Given the description of an element on the screen output the (x, y) to click on. 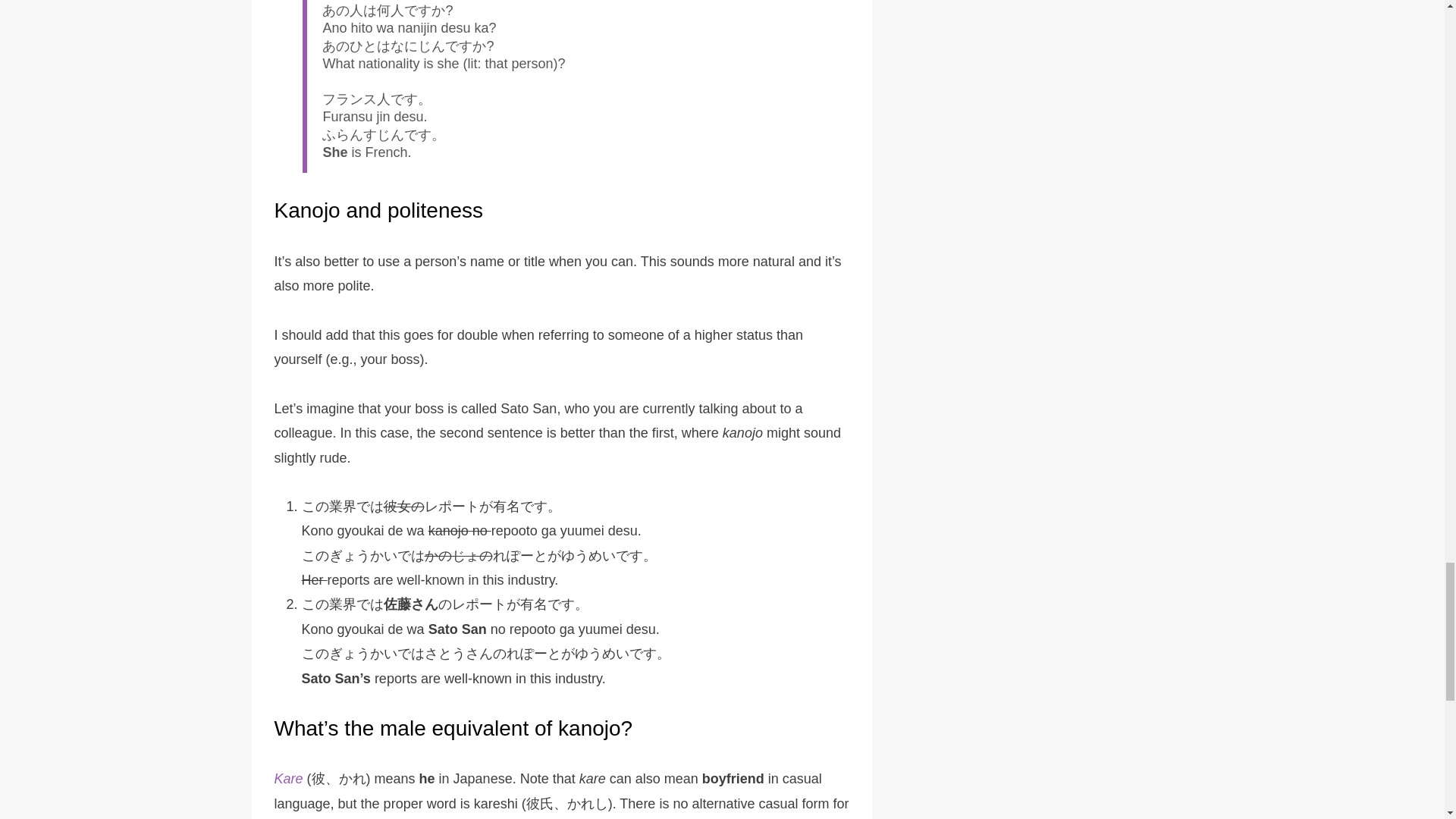
Kare (288, 778)
